Given the description of an element on the screen output the (x, y) to click on. 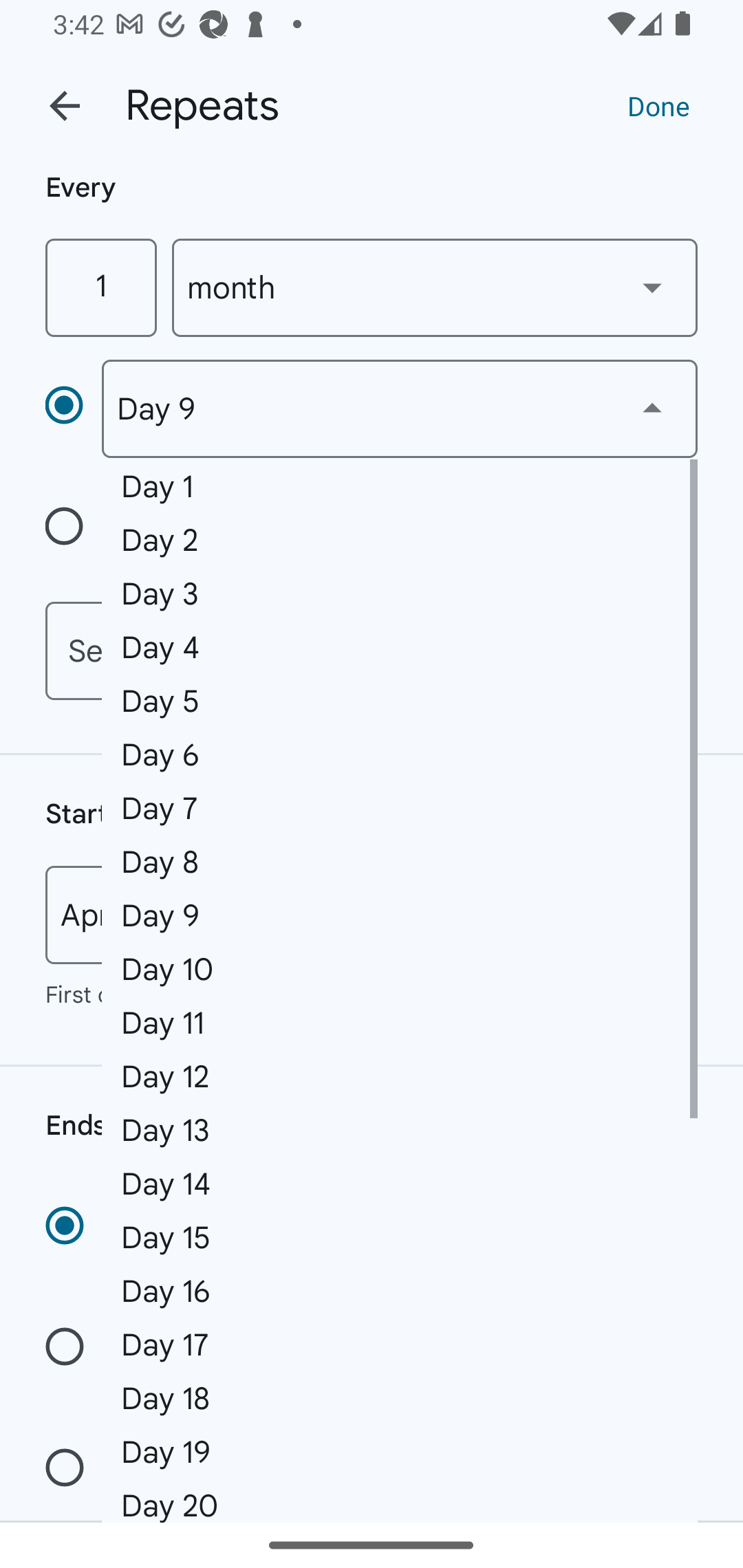
Back (64, 105)
Done (658, 105)
1 (100, 287)
month (434, 287)
Show dropdown menu (652, 286)
Day 9 (399, 408)
Show dropdown menu (652, 408)
Repeat monthly on a specific day of the month (73, 408)
Repeat monthly on a specific weekday (73, 529)
